Given the description of an element on the screen output the (x, y) to click on. 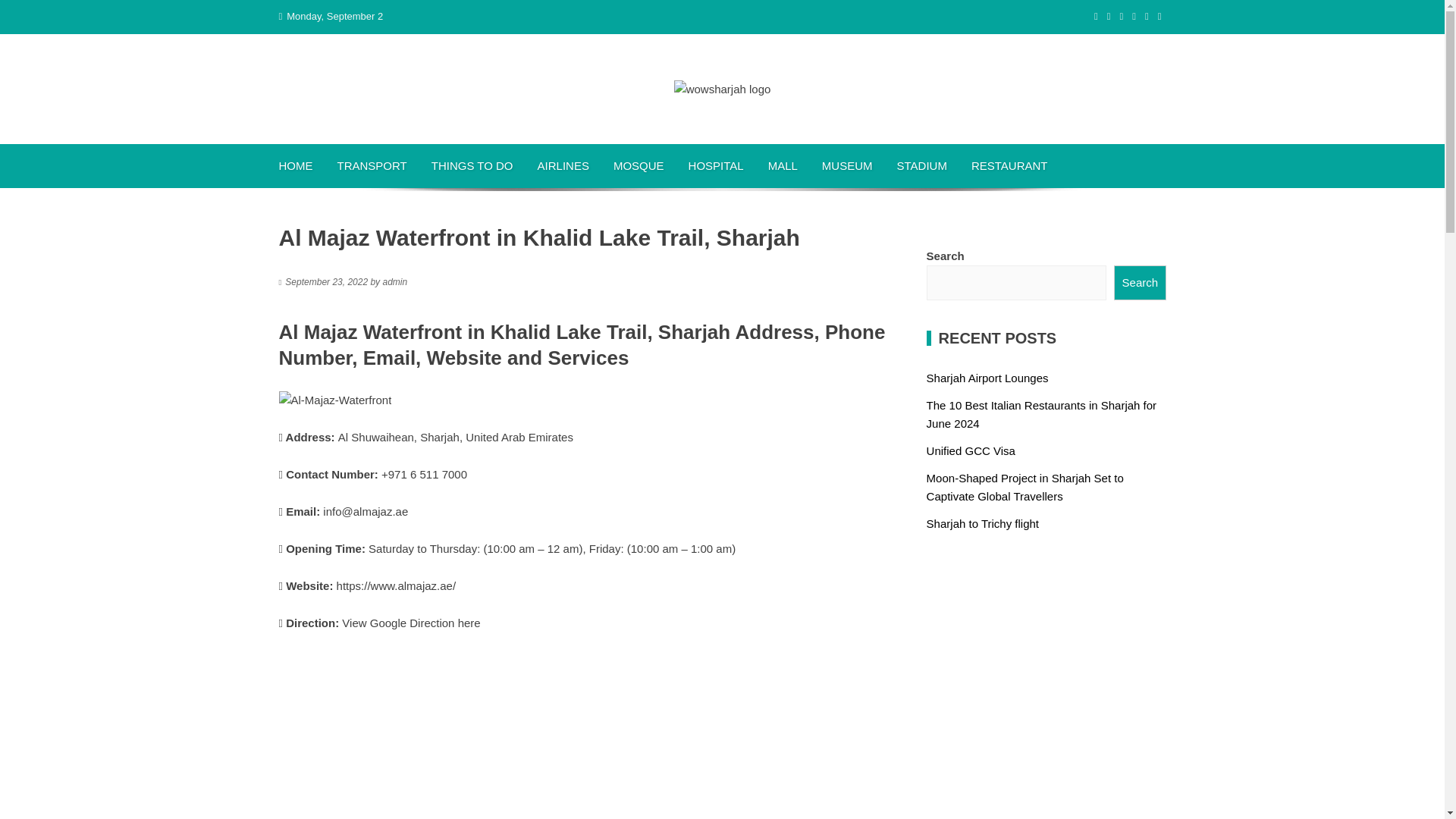
here (469, 622)
MALL (782, 166)
MUSEUM (847, 166)
971 (397, 473)
7000 (453, 473)
AIRLINES (563, 166)
HOME (295, 166)
TRANSPORT (371, 166)
MOSQUE (639, 166)
THINGS TO DO (472, 166)
